Given the description of an element on the screen output the (x, y) to click on. 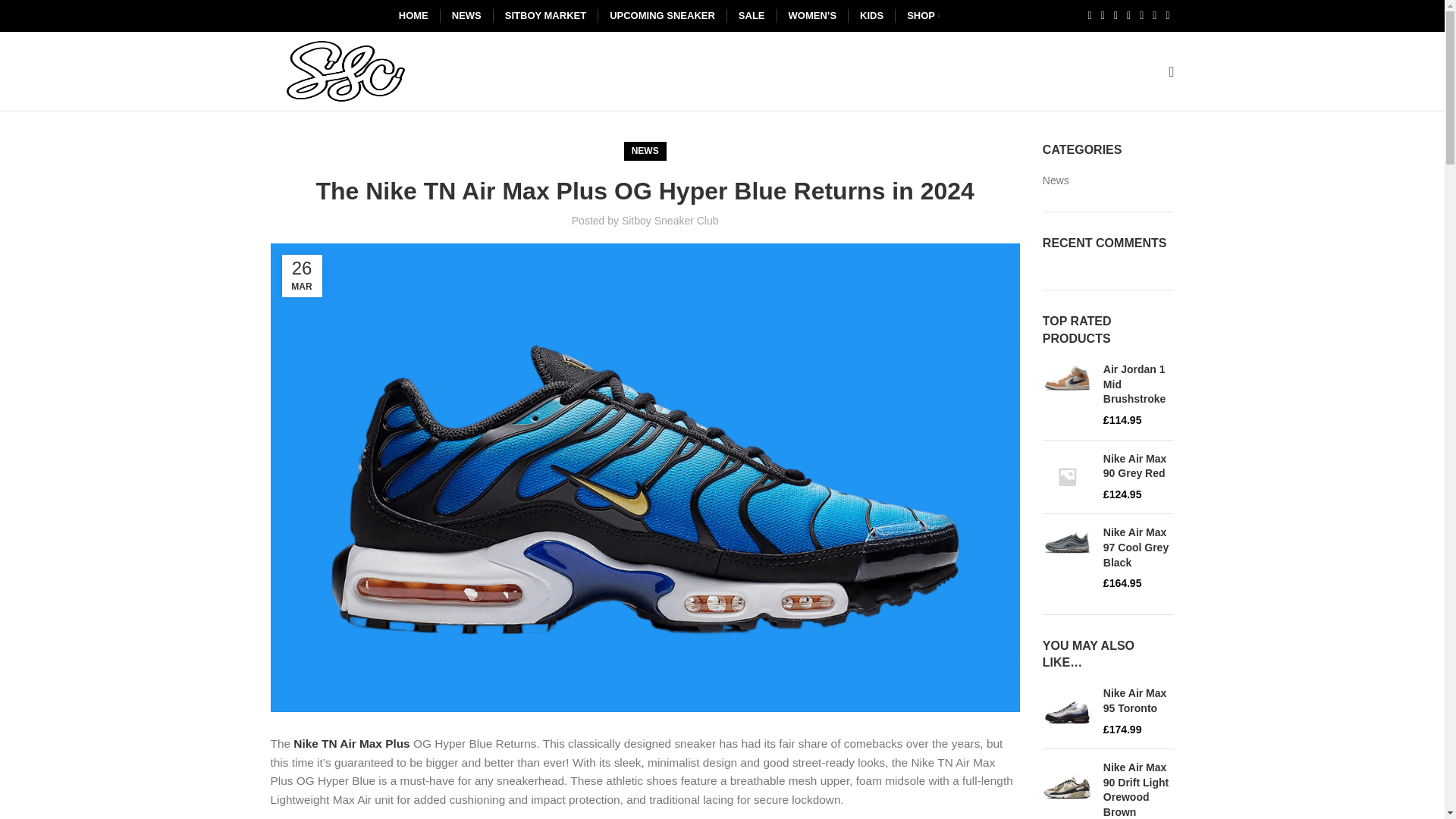
NEWS (467, 15)
UPCOMING SNEAKER (662, 15)
SALE (751, 15)
SITBOY MARKET (544, 15)
NEWS (645, 150)
KIDS (871, 15)
HOME (413, 15)
SHOP (922, 15)
